Given the description of an element on the screen output the (x, y) to click on. 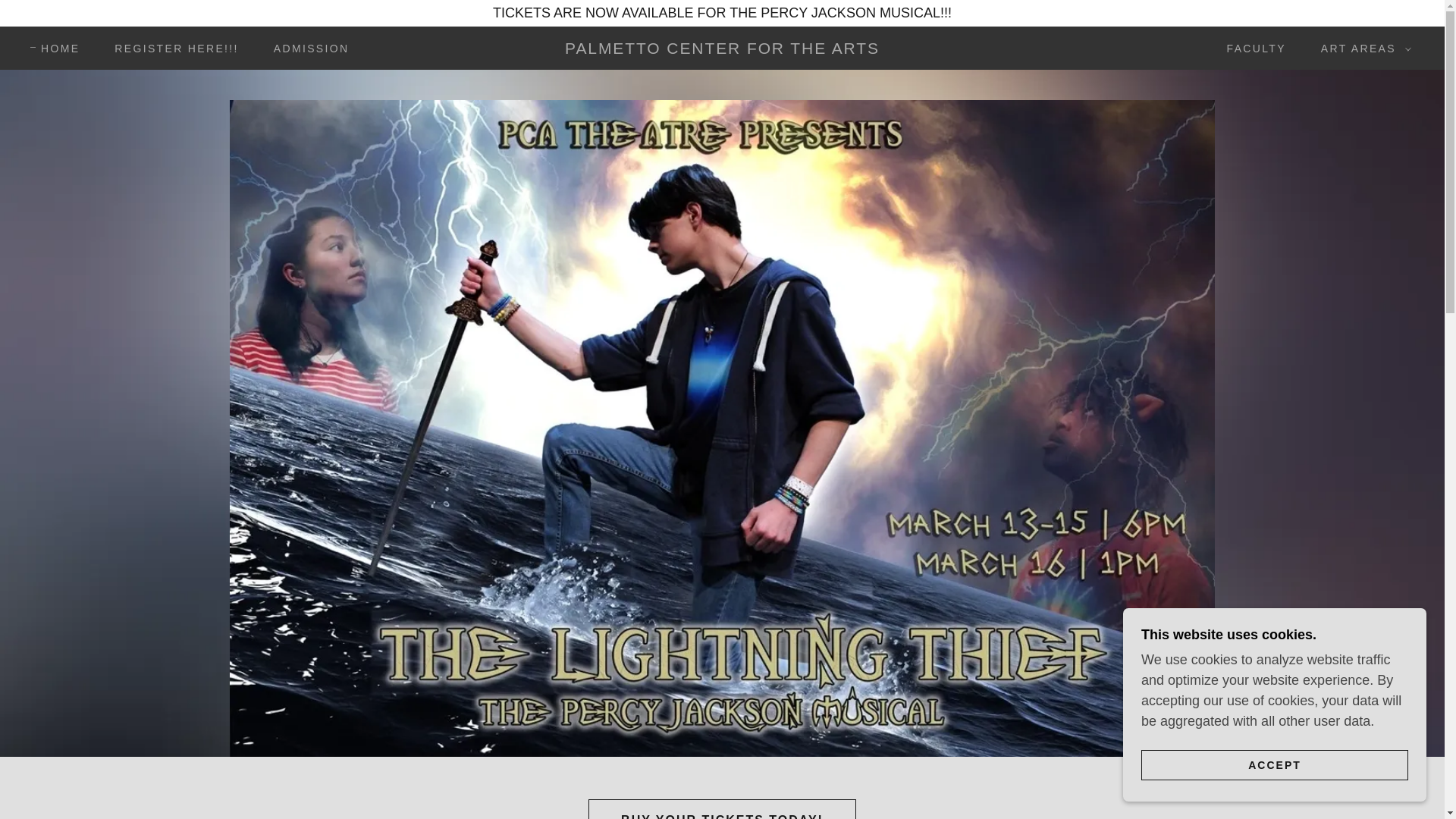
ART AREAS (1361, 48)
FACULTY (1250, 48)
Palmetto center for the arts (722, 48)
ADMISSION (306, 48)
REGISTER HERE!!! (171, 48)
HOME (55, 48)
PALMETTO CENTER FOR THE ARTS (722, 48)
